Given the description of an element on the screen output the (x, y) to click on. 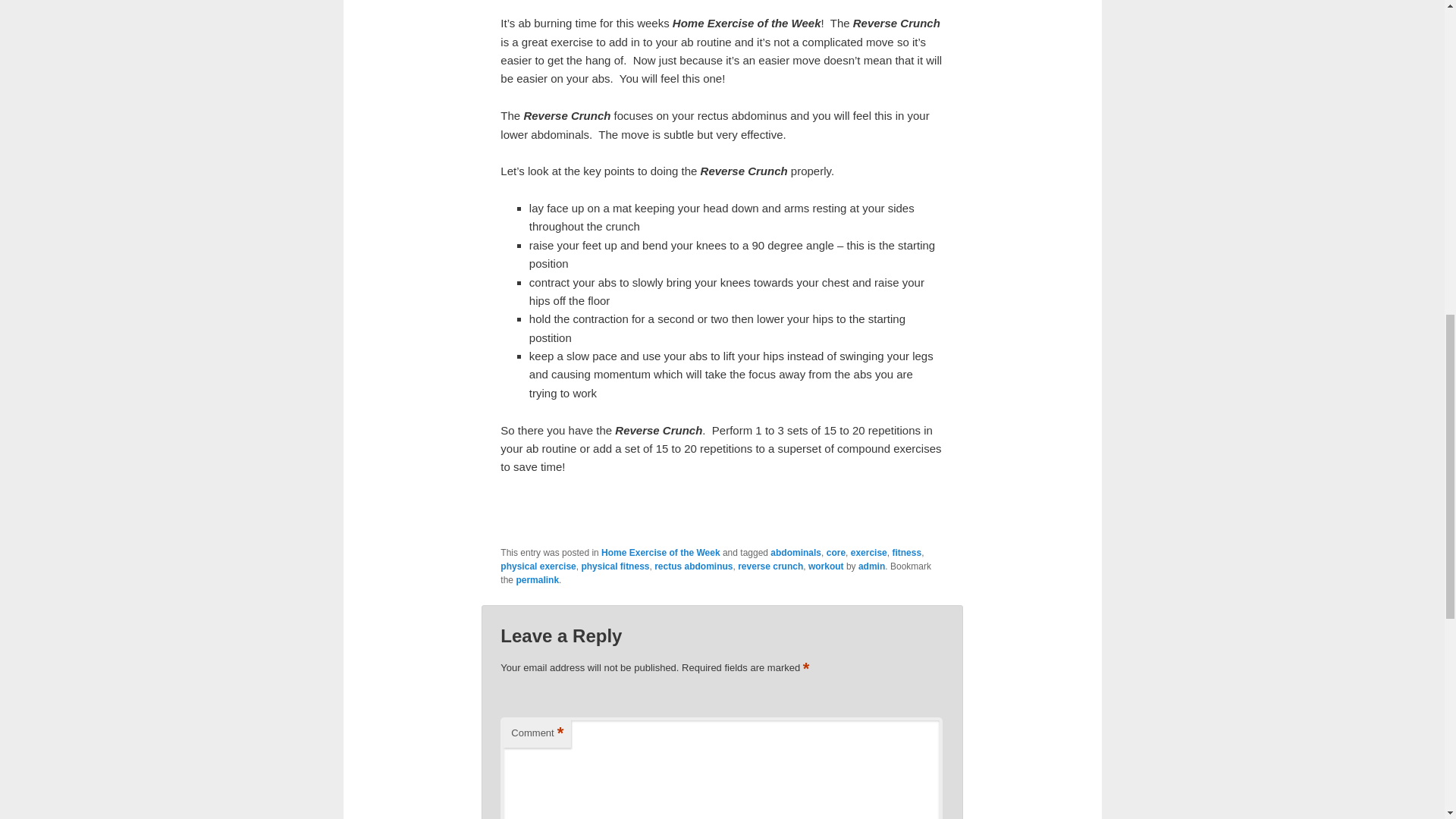
rectus abdominus (692, 566)
workout (826, 566)
fitness (906, 552)
reverse crunch (770, 566)
physical exercise (537, 566)
permalink (537, 579)
admin (872, 566)
Home Exercise of the Week (660, 552)
physical fitness (614, 566)
exercise (868, 552)
abdominals (795, 552)
Permalink to Reverse Crunch (537, 579)
core (836, 552)
